Given the description of an element on the screen output the (x, y) to click on. 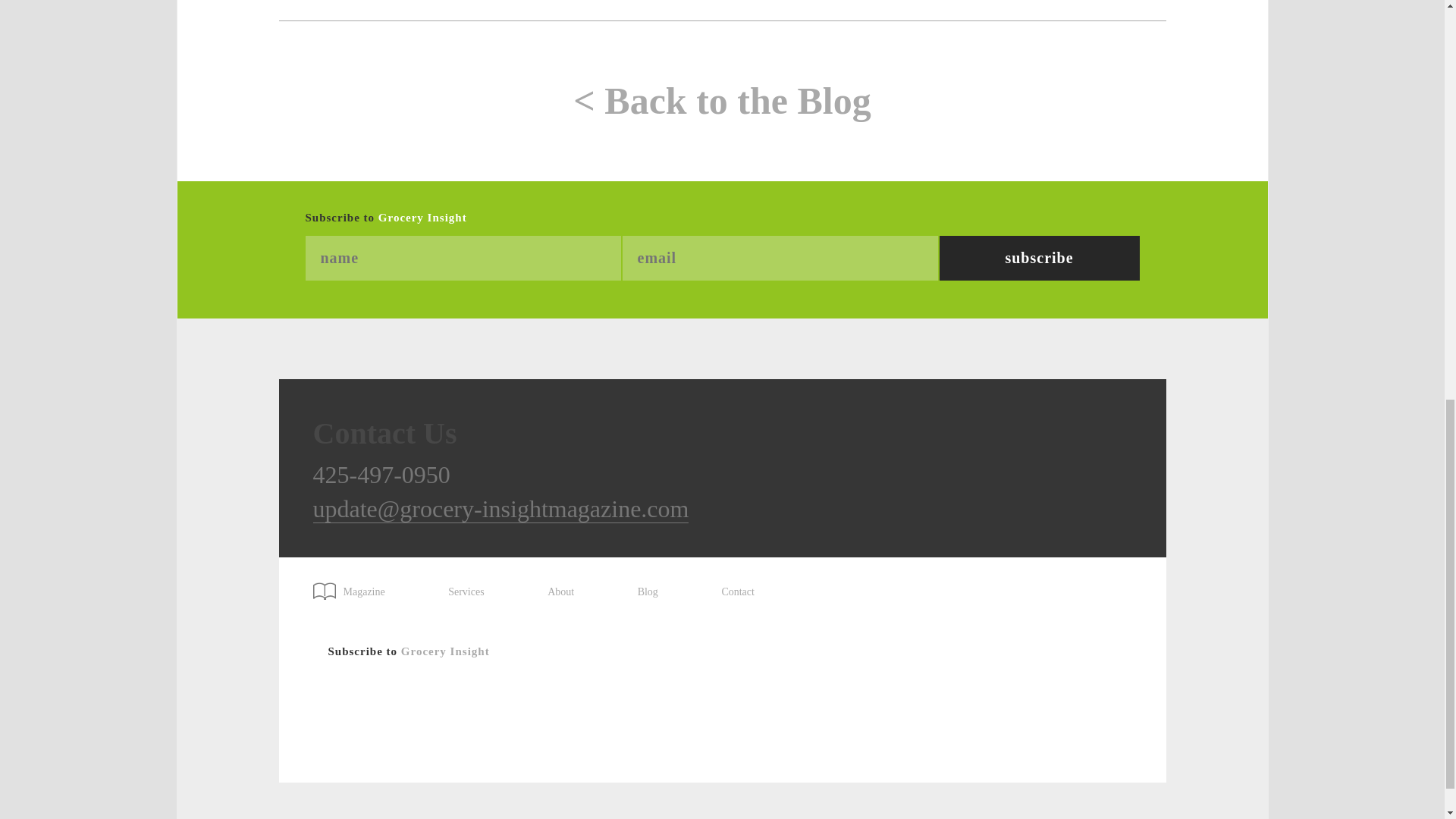
Subscribe (1038, 257)
Magazine (355, 586)
Blog (647, 592)
Contact (737, 592)
About (560, 592)
Services (465, 592)
Subscribe (1038, 257)
